Given the description of an element on the screen output the (x, y) to click on. 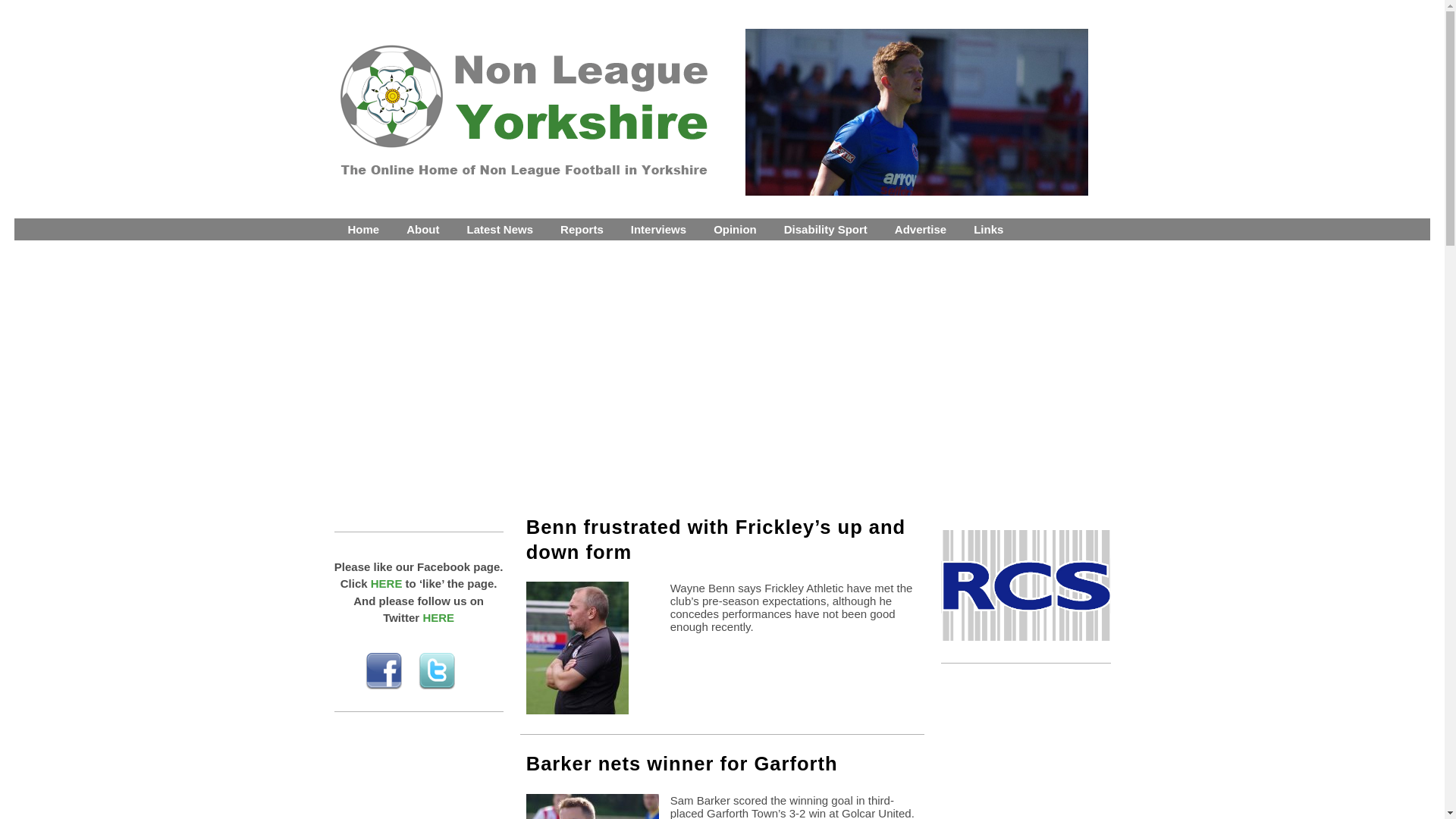
Reports (582, 229)
HERE (387, 583)
Skip to content (26, 221)
Home (363, 229)
About (422, 229)
Interviews (658, 229)
Barker nets winner for Garforth (681, 762)
Links (987, 229)
Opinion (735, 229)
